Given the description of an element on the screen output the (x, y) to click on. 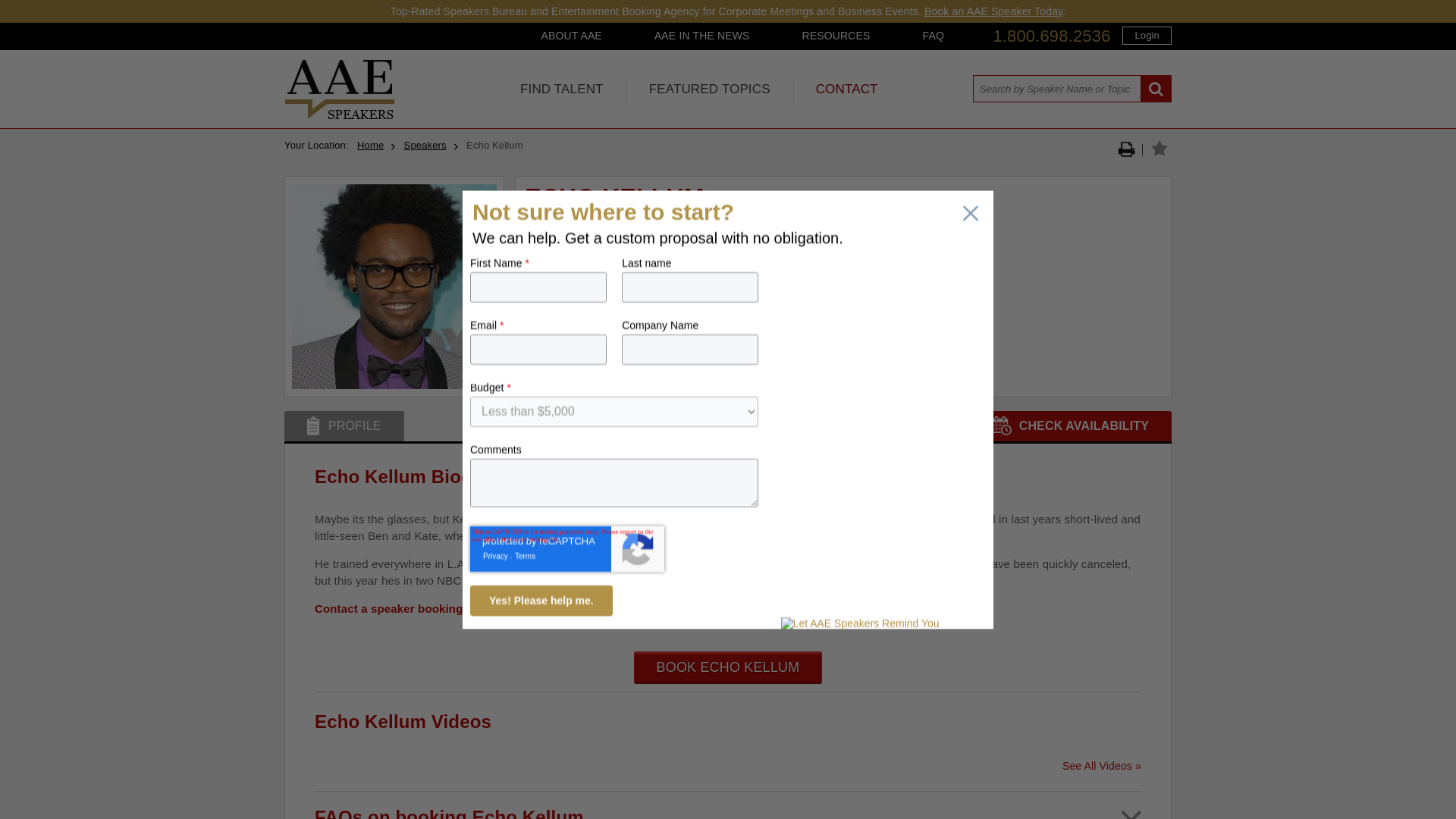
FAQ (933, 34)
ABOUT AAE (570, 34)
All American Speakers Bureau and Celebrity Booking Agency (338, 115)
1.800.698.2536 (1050, 35)
AAE IN THE NEWS (702, 34)
Login (1147, 35)
RESOURCES (836, 34)
Book an AAE Speaker Today (993, 10)
Search (1156, 89)
